Given the description of an element on the screen output the (x, y) to click on. 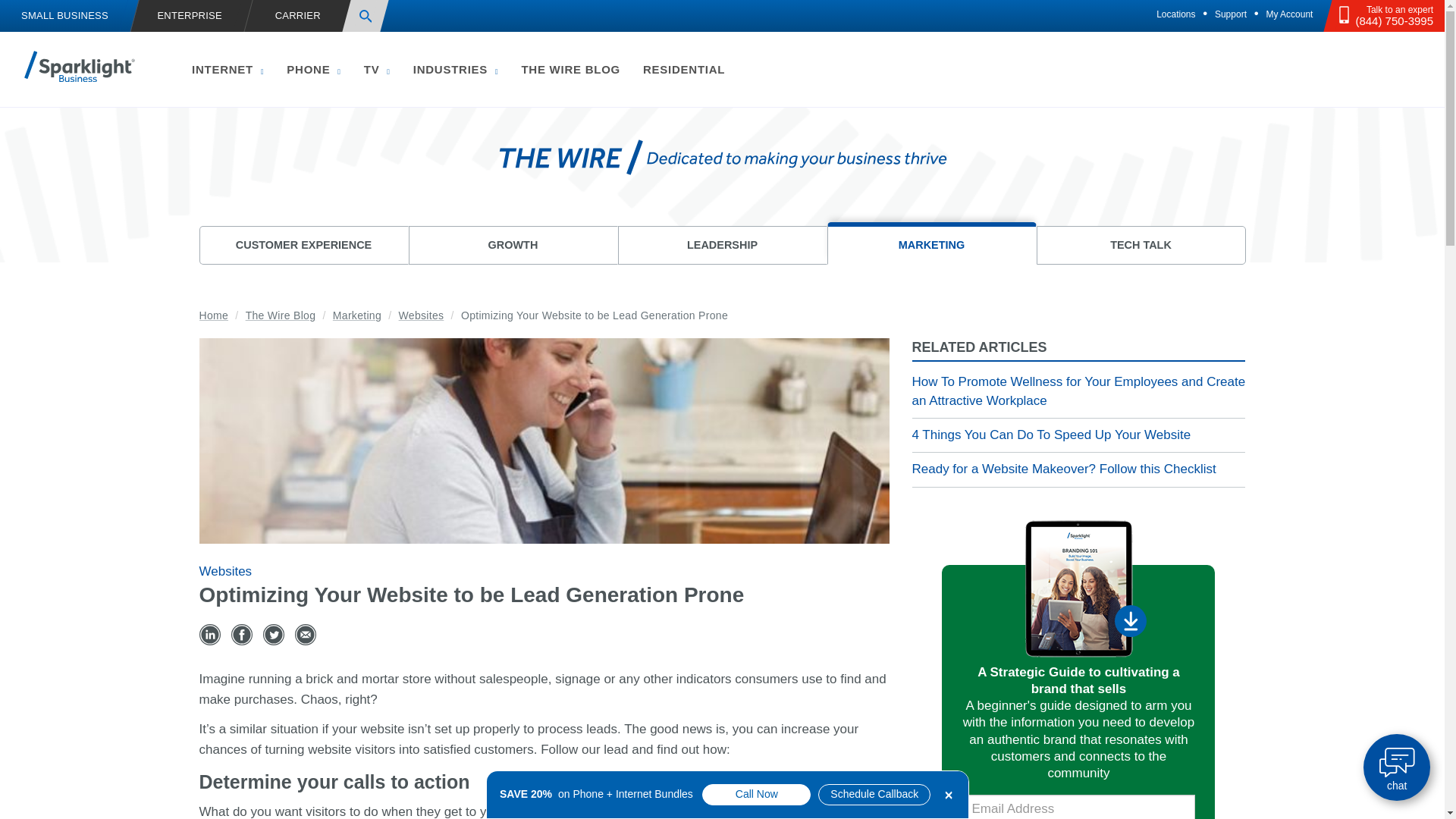
Start Chat (1395, 766)
Support (1230, 14)
ENTERPRISE (186, 16)
Locations (1175, 14)
SMALL BUSINESS (64, 16)
Sparklight Business (79, 65)
TV (376, 68)
PHONE (313, 68)
CARRIER (297, 16)
My Account (1289, 14)
INTERNET (227, 68)
